Given the description of an element on the screen output the (x, y) to click on. 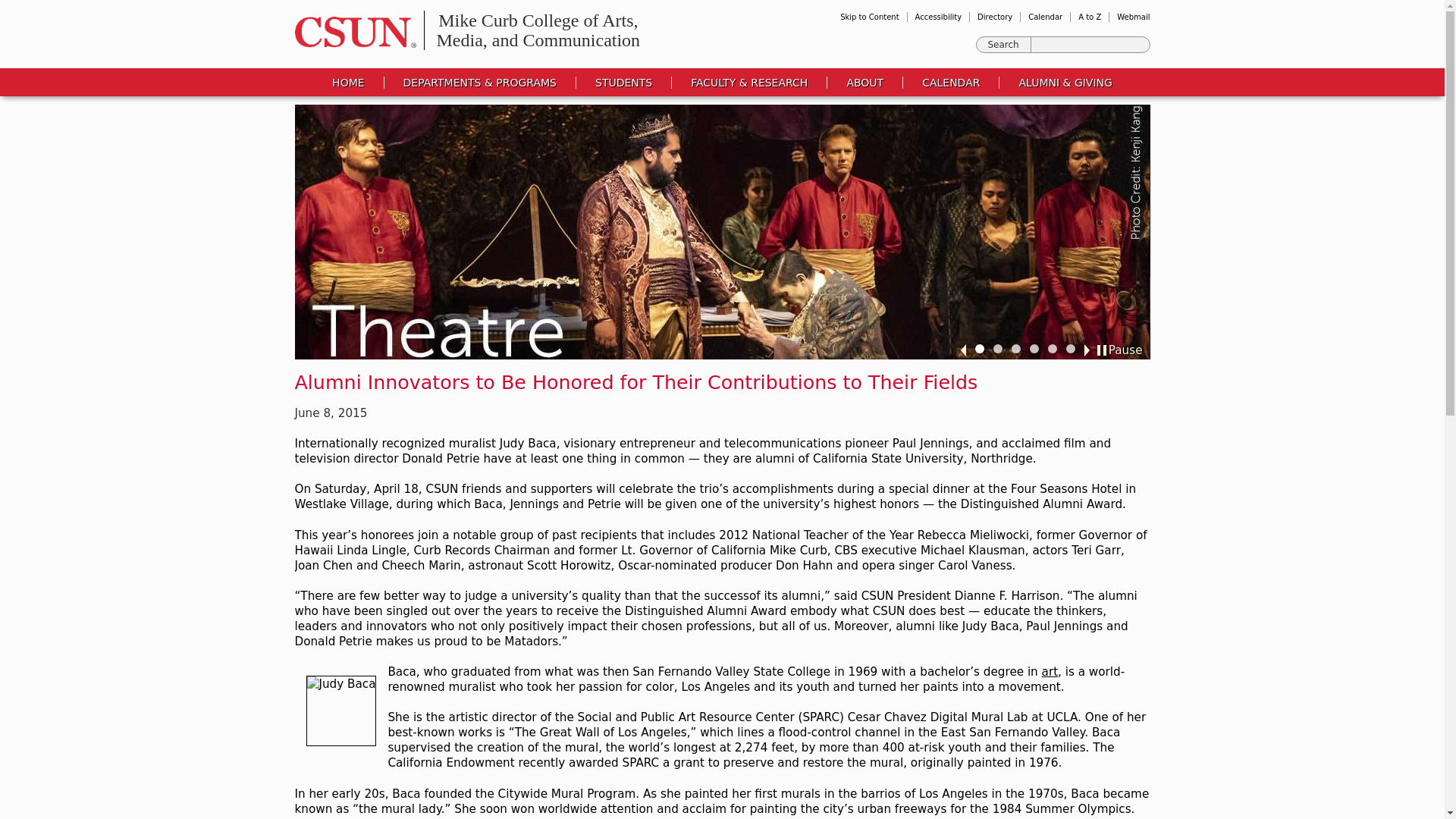
Skip to Content (869, 16)
Calendar (1044, 16)
Search (1003, 44)
A to Z (1089, 16)
California State University, Northridge - Home (349, 31)
Search (1003, 44)
Directory (993, 16)
Accessibility (938, 16)
HOME (537, 29)
